Given the description of an element on the screen output the (x, y) to click on. 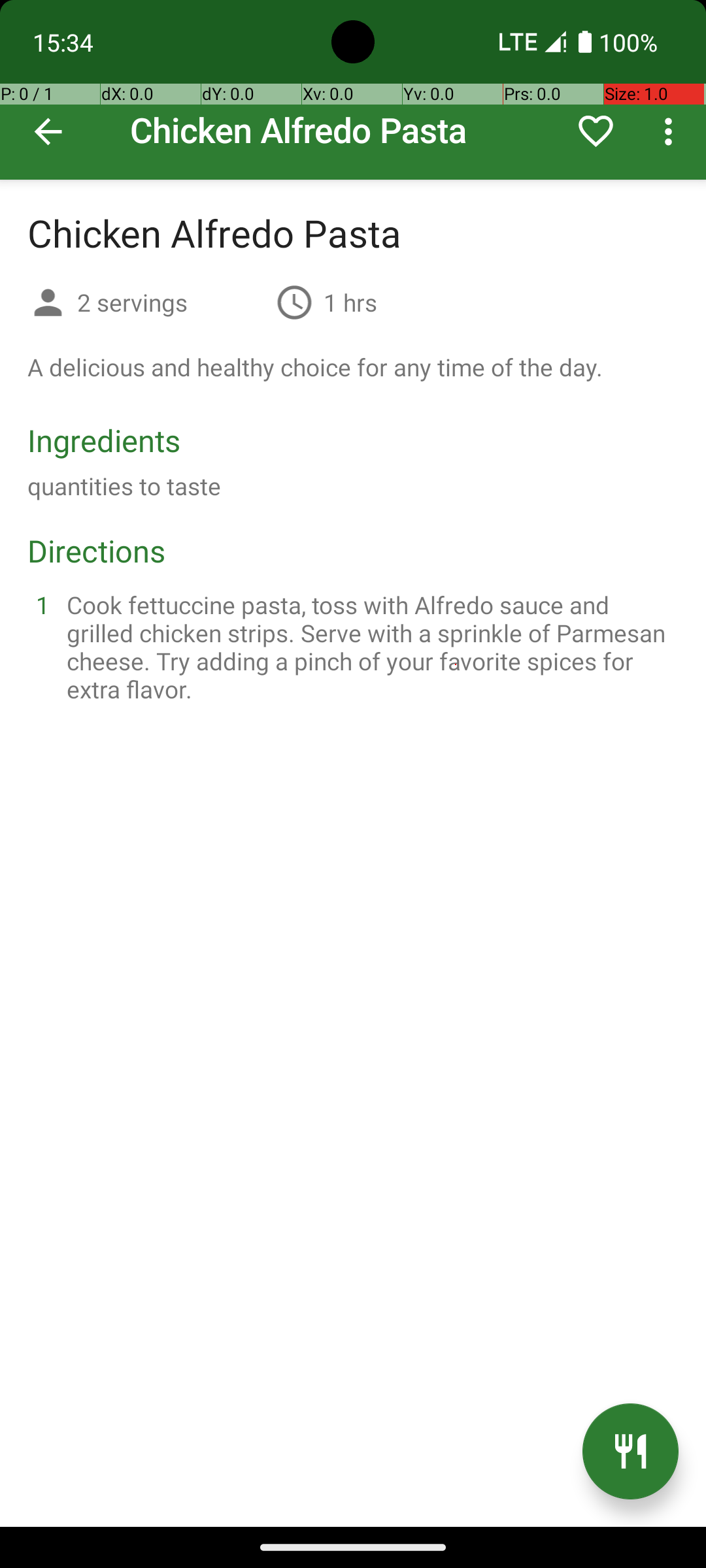
Cook fettuccine pasta, toss with Alfredo sauce and grilled chicken strips. Serve with a sprinkle of Parmesan cheese. Try adding a pinch of your favorite spices for extra flavor. Element type: android.widget.TextView (368, 646)
